Given the description of an element on the screen output the (x, y) to click on. 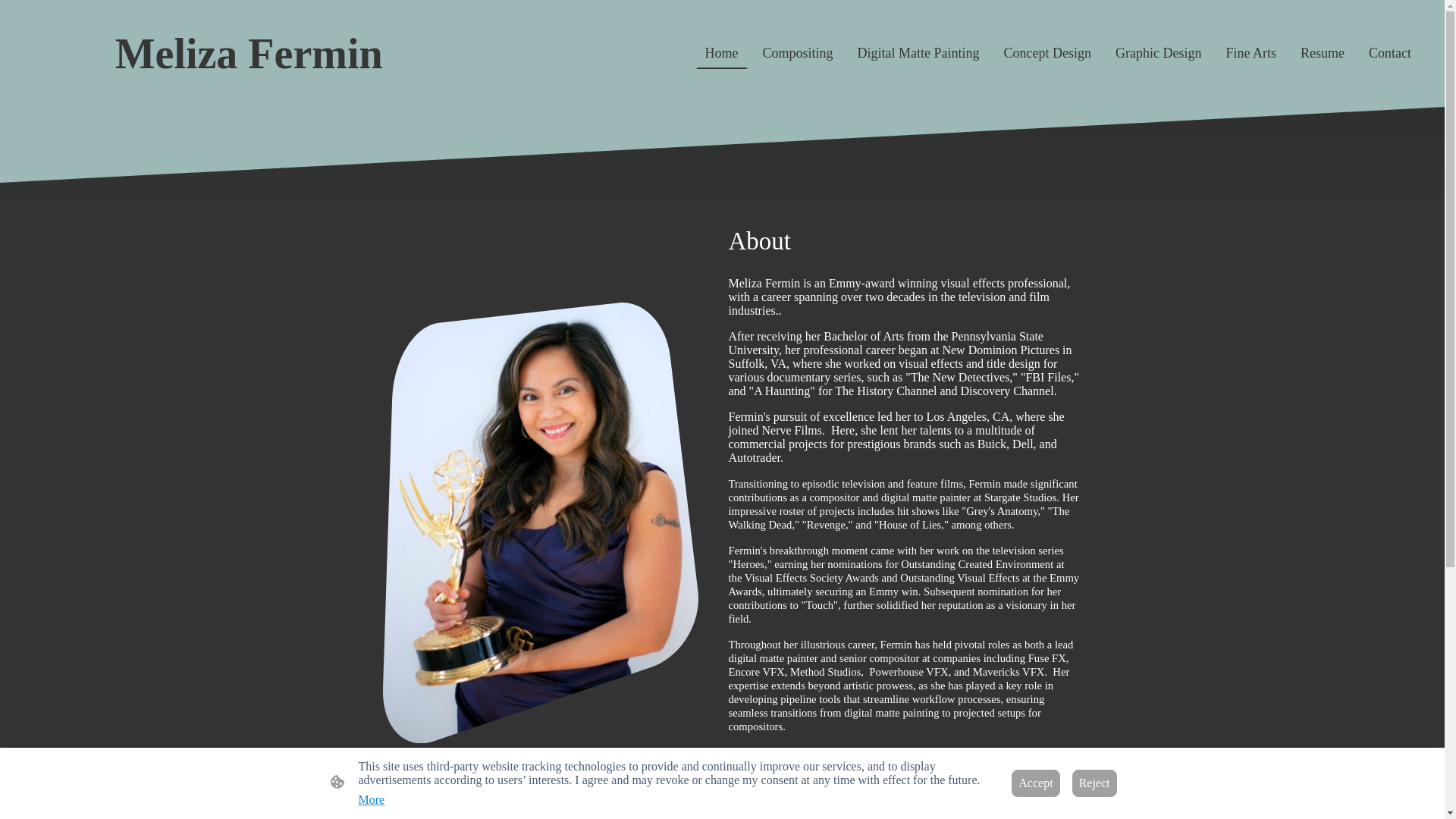
Digital Matte Painting (918, 53)
Meliza Fermin (248, 51)
More (371, 799)
Graphic Design (1158, 53)
Resume (1322, 53)
Meliza Fermin (248, 88)
Compositing (798, 53)
Concept Design (1047, 53)
Reject (1093, 782)
Home (721, 53)
Accept (1035, 782)
Contact (1389, 53)
Fine Arts (1250, 53)
